Given the description of an element on the screen output the (x, y) to click on. 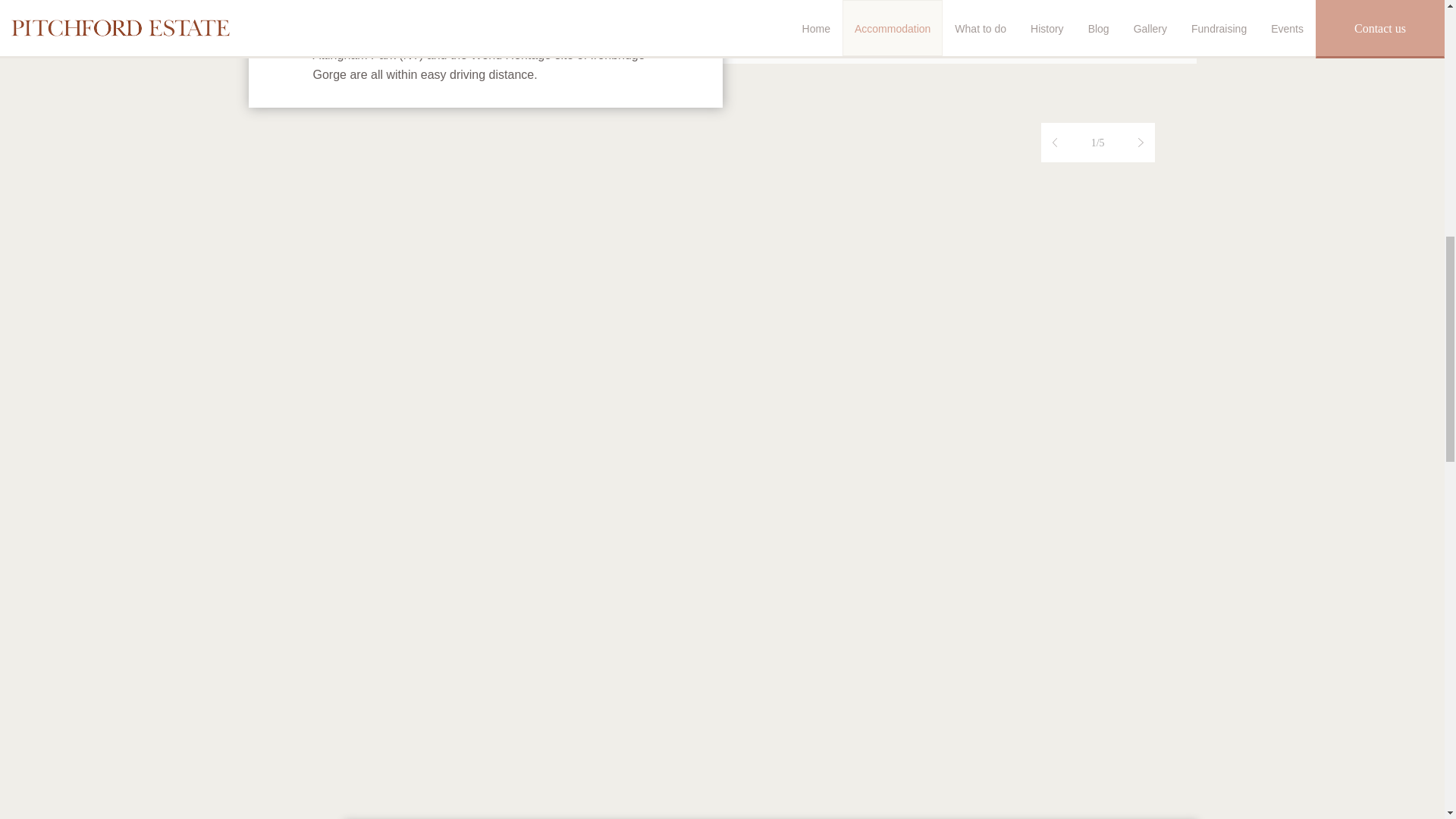
Book today on Sykes Cottages (855, 6)
